Given the description of an element on the screen output the (x, y) to click on. 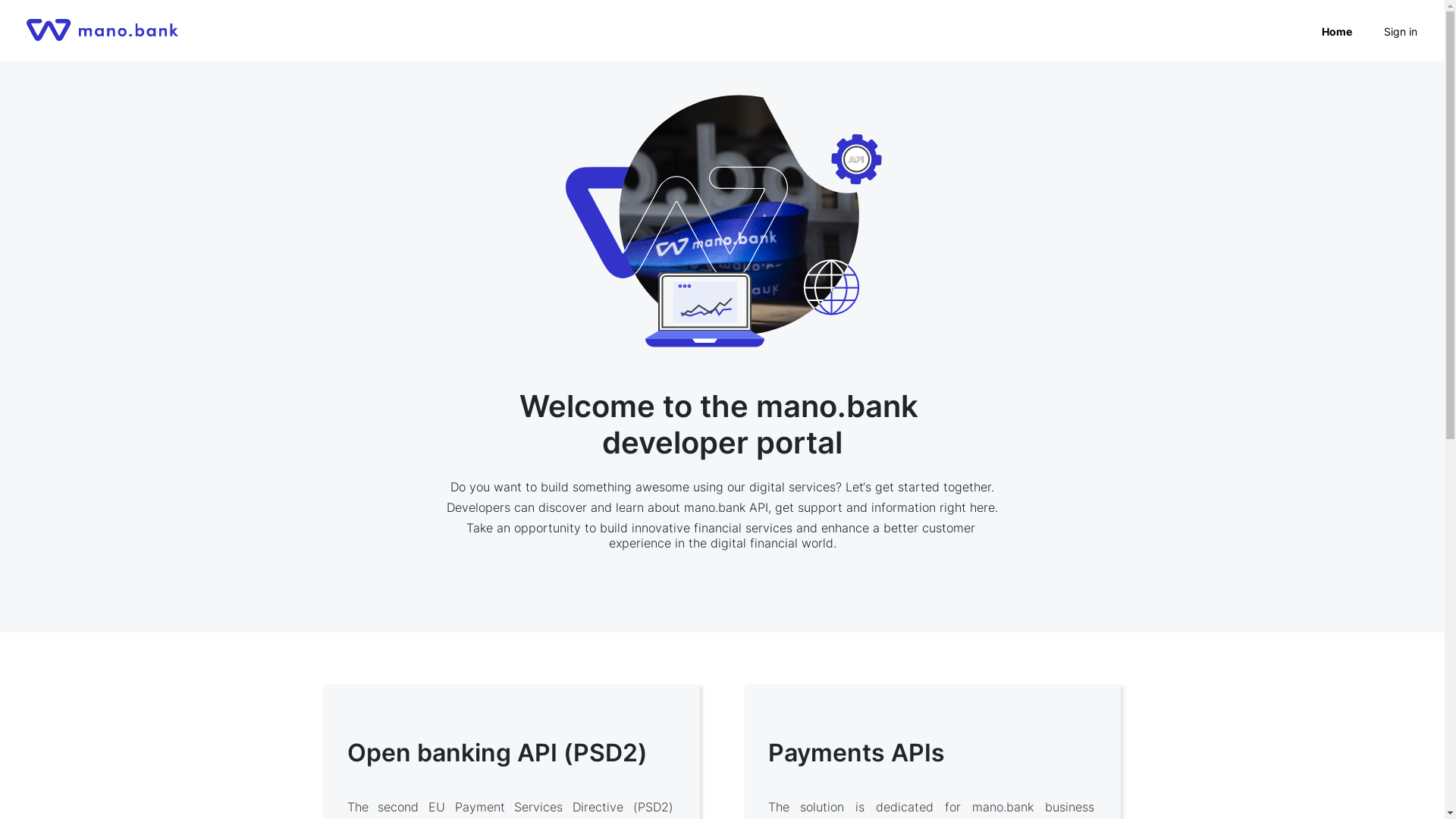
Sign in Element type: text (1400, 31)
Home Element type: text (1336, 31)
